Given the description of an element on the screen output the (x, y) to click on. 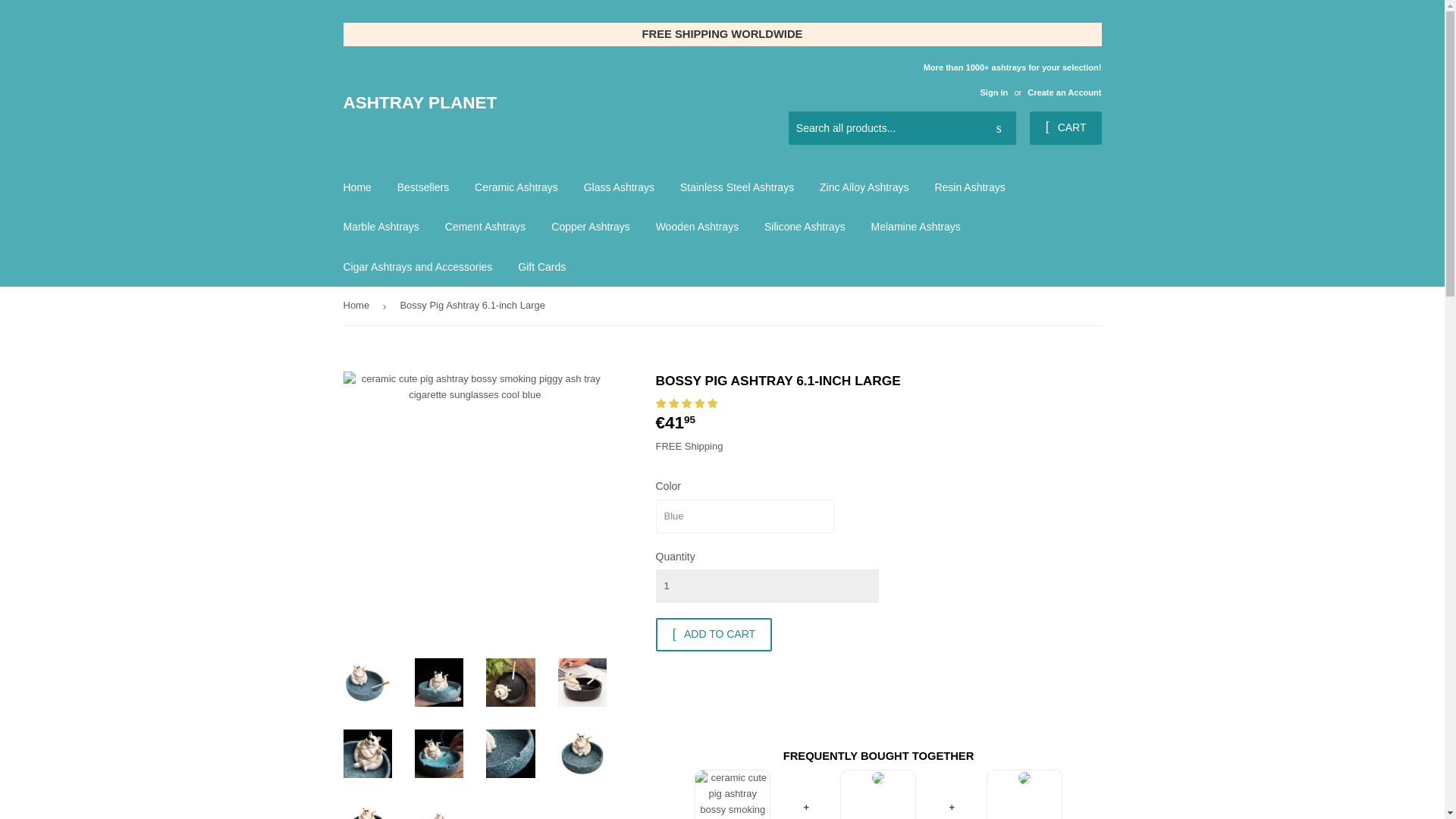
Glass Ashtrays (618, 187)
Marble Ashtrays (380, 226)
ASHTRAY PLANET (532, 102)
Copper Ashtrays (591, 226)
Bestsellers (422, 187)
Wooden Ashtrays (697, 226)
Search (998, 128)
Sign in (993, 92)
CART (1064, 127)
1 (766, 585)
Cement Ashtrays (485, 226)
Create an Account (1063, 92)
Stainless Steel Ashtrays (736, 187)
Zinc Alloy Ashtrays (864, 187)
Home (356, 187)
